Given the description of an element on the screen output the (x, y) to click on. 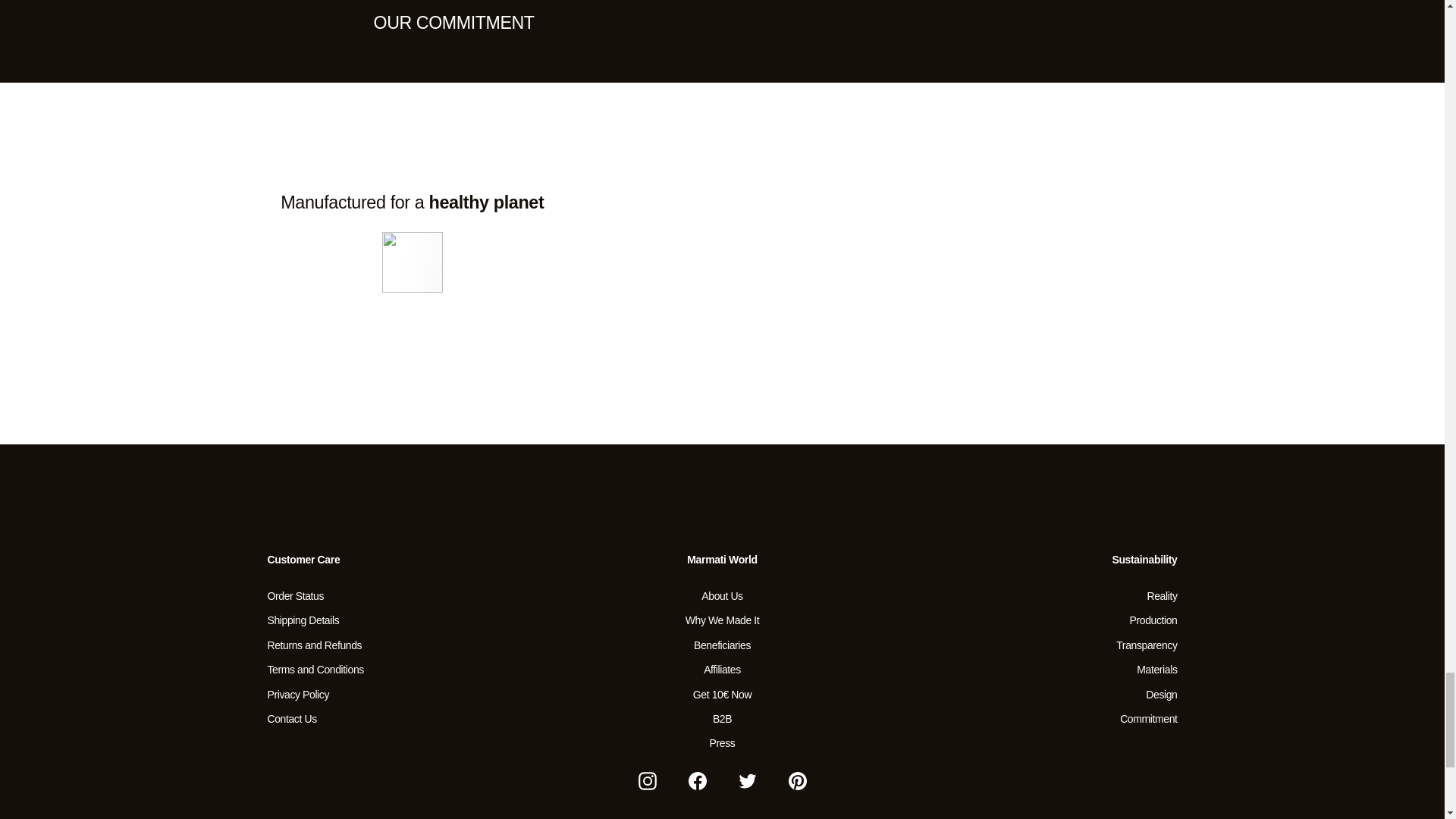
MARMATI on Pinterest (797, 781)
Our commitment (453, 21)
Manufactured for a healthy planet (412, 202)
Sustainability (412, 202)
MARMATI on Twitter (747, 781)
MARMATI on Facebook (698, 781)
OUR COMMITMENT (453, 21)
MARMATI on Instagram (647, 781)
